Given the description of an element on the screen output the (x, y) to click on. 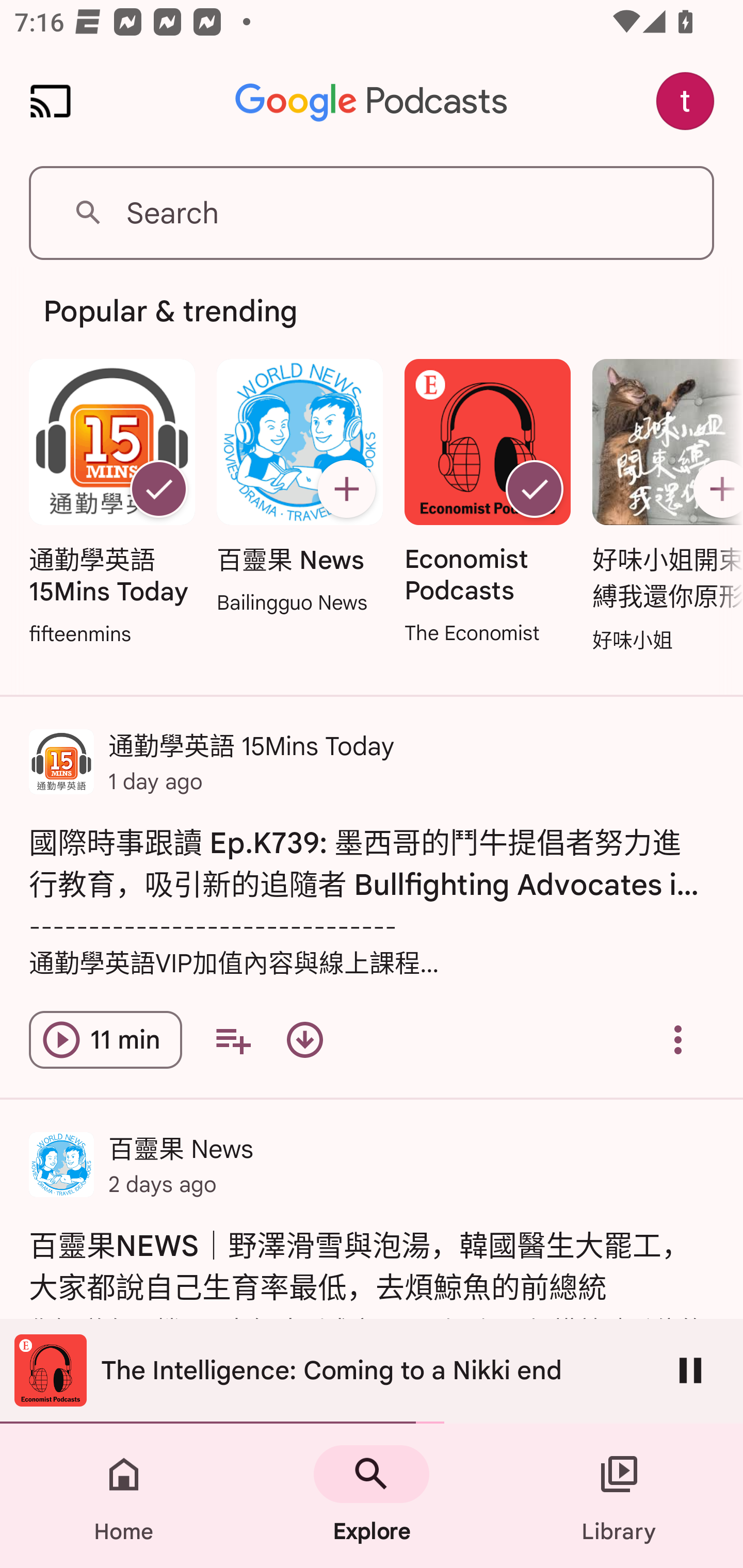
Cast. Disconnected (50, 101)
Search (371, 212)
百靈果 News Subscribe 百靈果 News Bailingguo News (299, 488)
好味小姐開束縛我還你原形 Subscribe 好味小姐開束縛我還你原形 好味小姐 (662, 507)
Unsubscribe (158, 489)
Subscribe (346, 489)
Unsubscribe (534, 489)
Subscribe (714, 489)
Add to your queue (232, 1040)
Download episode (304, 1040)
Overflow menu (677, 1040)
Pause (690, 1370)
Home (123, 1495)
Library (619, 1495)
